Given the description of an element on the screen output the (x, y) to click on. 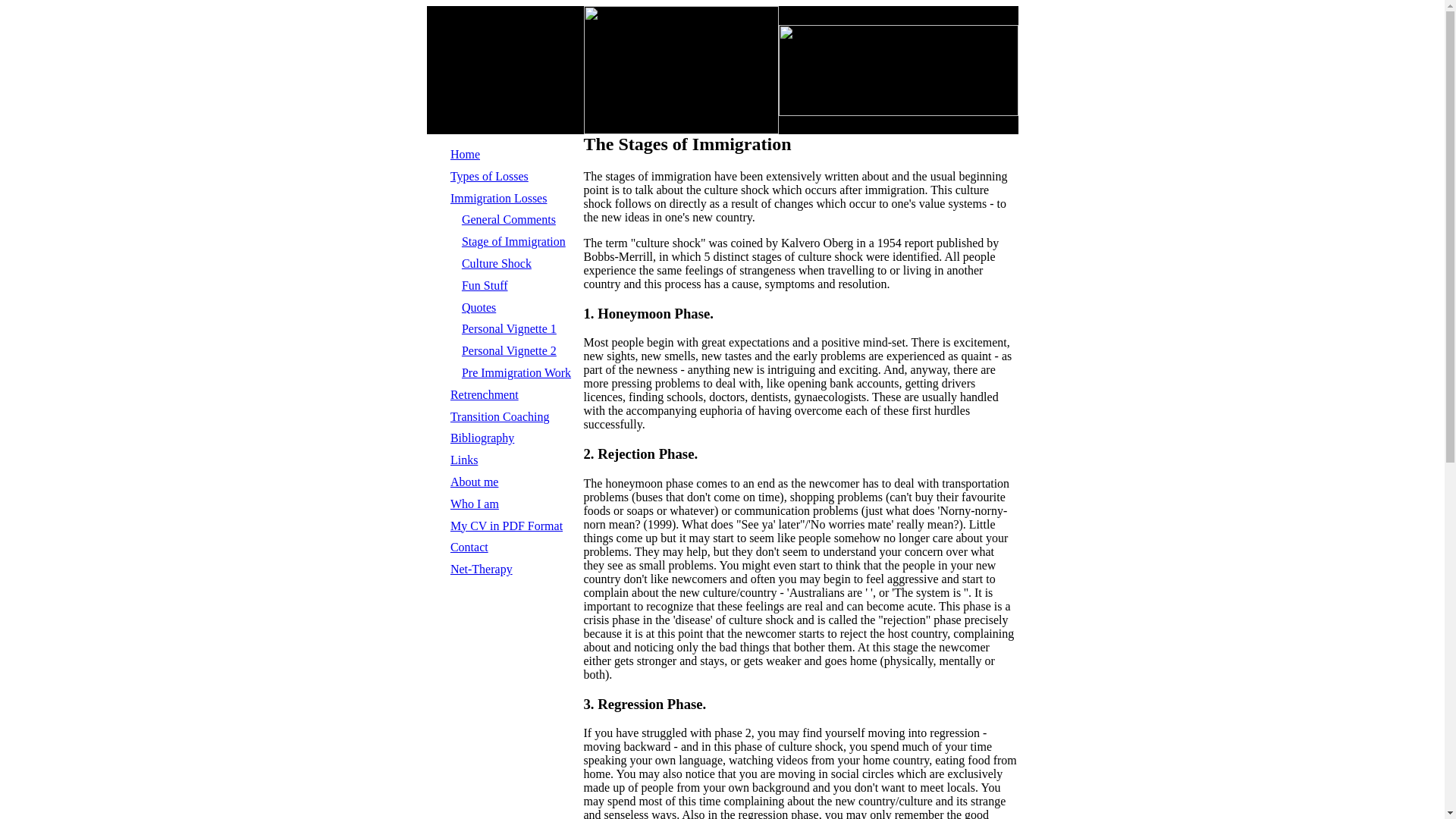
Transition Coaching (499, 416)
Retrenchment (483, 394)
Home (464, 154)
Stages of Immigration (513, 241)
Transition Coaching (499, 416)
Personal Vignette 2 - Australia (508, 350)
Who I am (474, 503)
Net-Therapy (480, 568)
Bibliography (481, 437)
Immigration Losses (498, 197)
Pre Immigration Work (515, 372)
General Comments (508, 219)
Stage of Immigration (513, 241)
Retrenchment losses (483, 394)
